Given the description of an element on the screen output the (x, y) to click on. 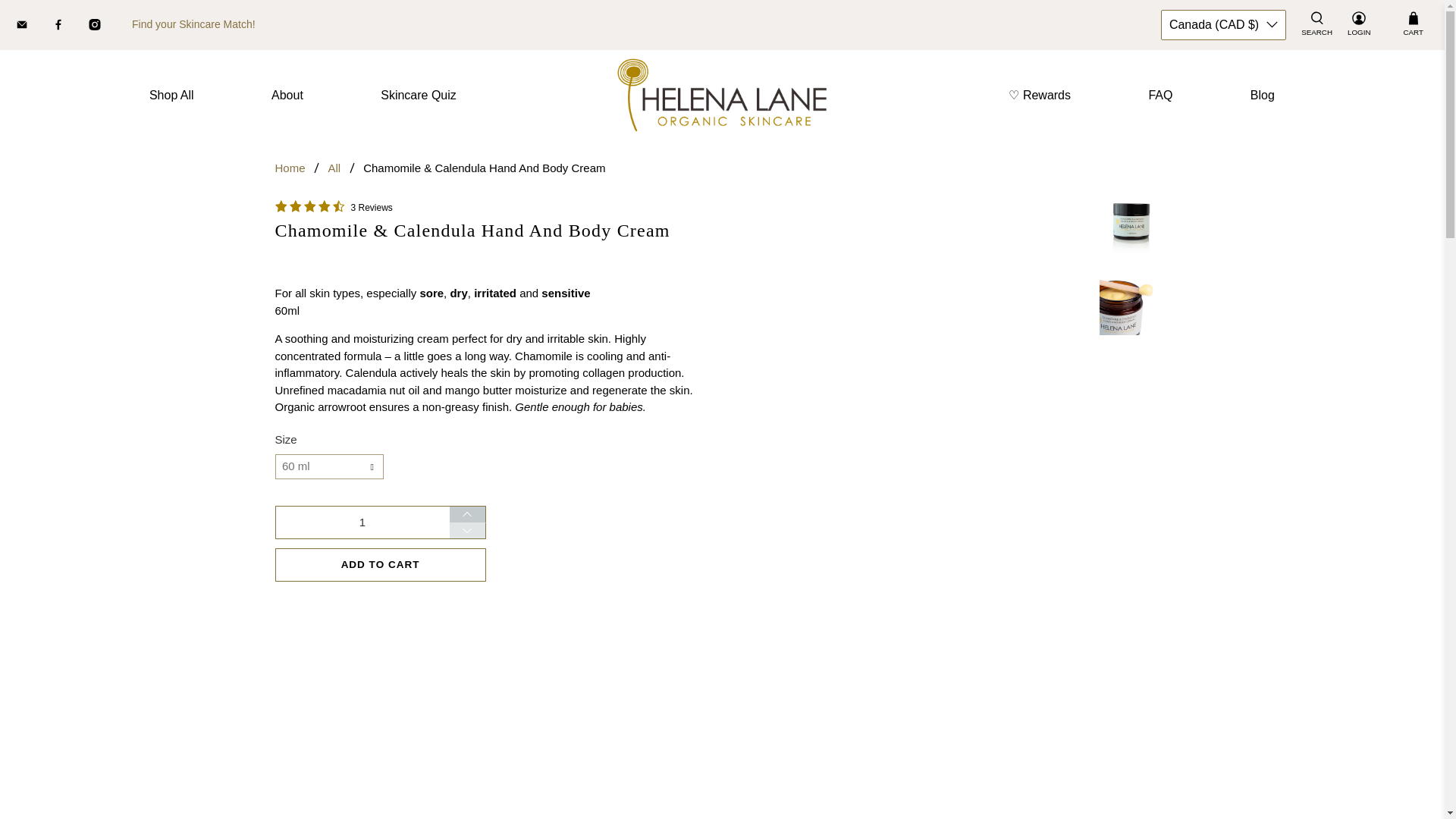
Helena Lane Skincare on Facebook (68, 26)
Shop All (171, 95)
IE (1217, 375)
Helena Lane Skincare (289, 167)
PL (1217, 647)
1 (361, 522)
SE (1217, 812)
FR (1217, 275)
FI (1217, 246)
HK (1217, 339)
NL (1217, 540)
CZ (1217, 174)
CA (1217, 145)
About (287, 95)
Email Helena Lane Skincare (32, 26)
